Given the description of an element on the screen output the (x, y) to click on. 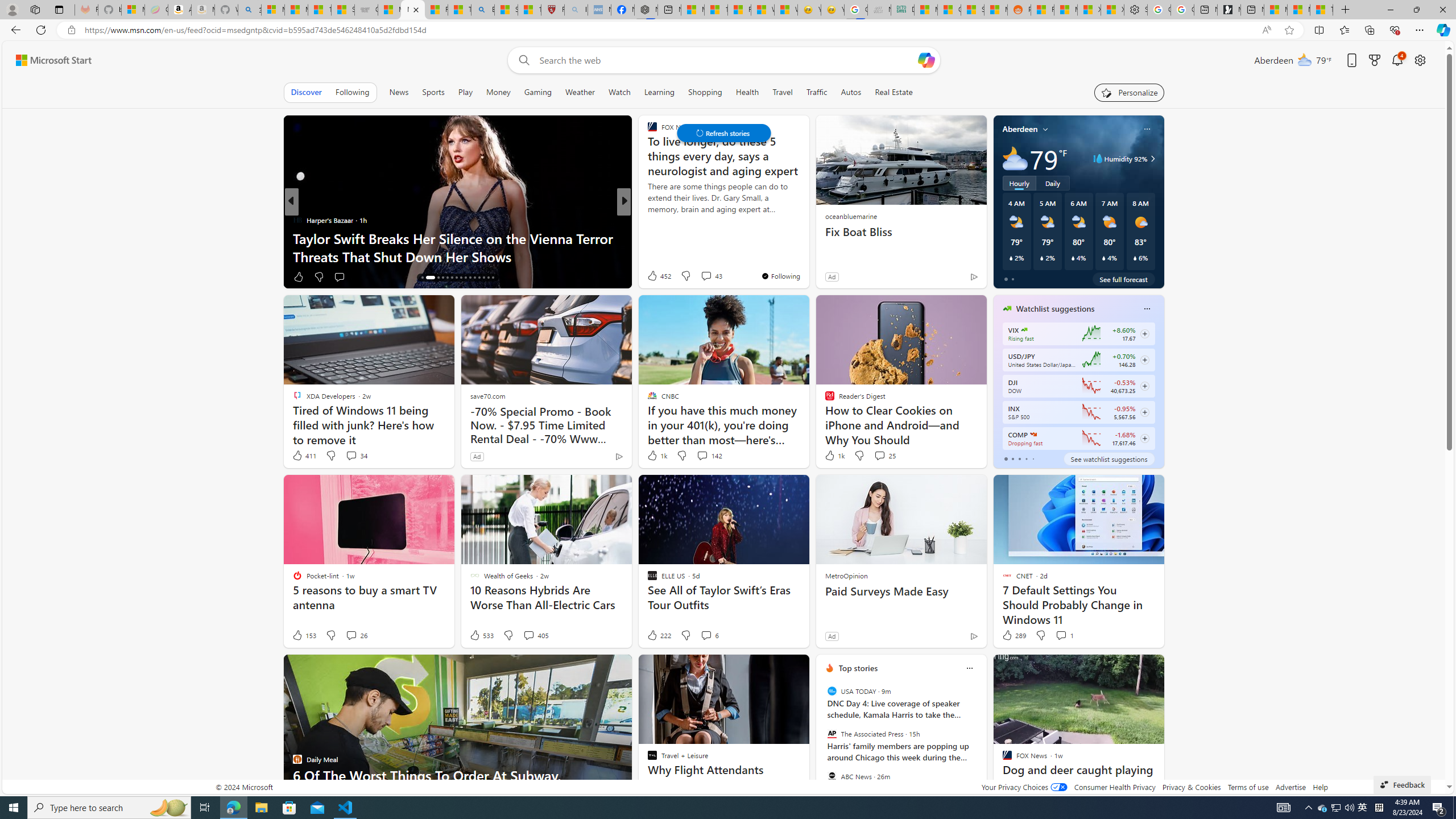
222 Like (658, 634)
View comments 3 Comment (694, 276)
AutomationID: tab-23 (460, 277)
The Register (647, 219)
See watchlist suggestions (1108, 459)
Autos (851, 92)
411 Like (303, 455)
View comments 89 Comment (703, 276)
Paid Surveys Made Easy (900, 591)
Shopping (705, 92)
Class: weather-arrow-glyph (1152, 158)
AutomationID: tab-18 (435, 277)
